Given the description of an element on the screen output the (x, y) to click on. 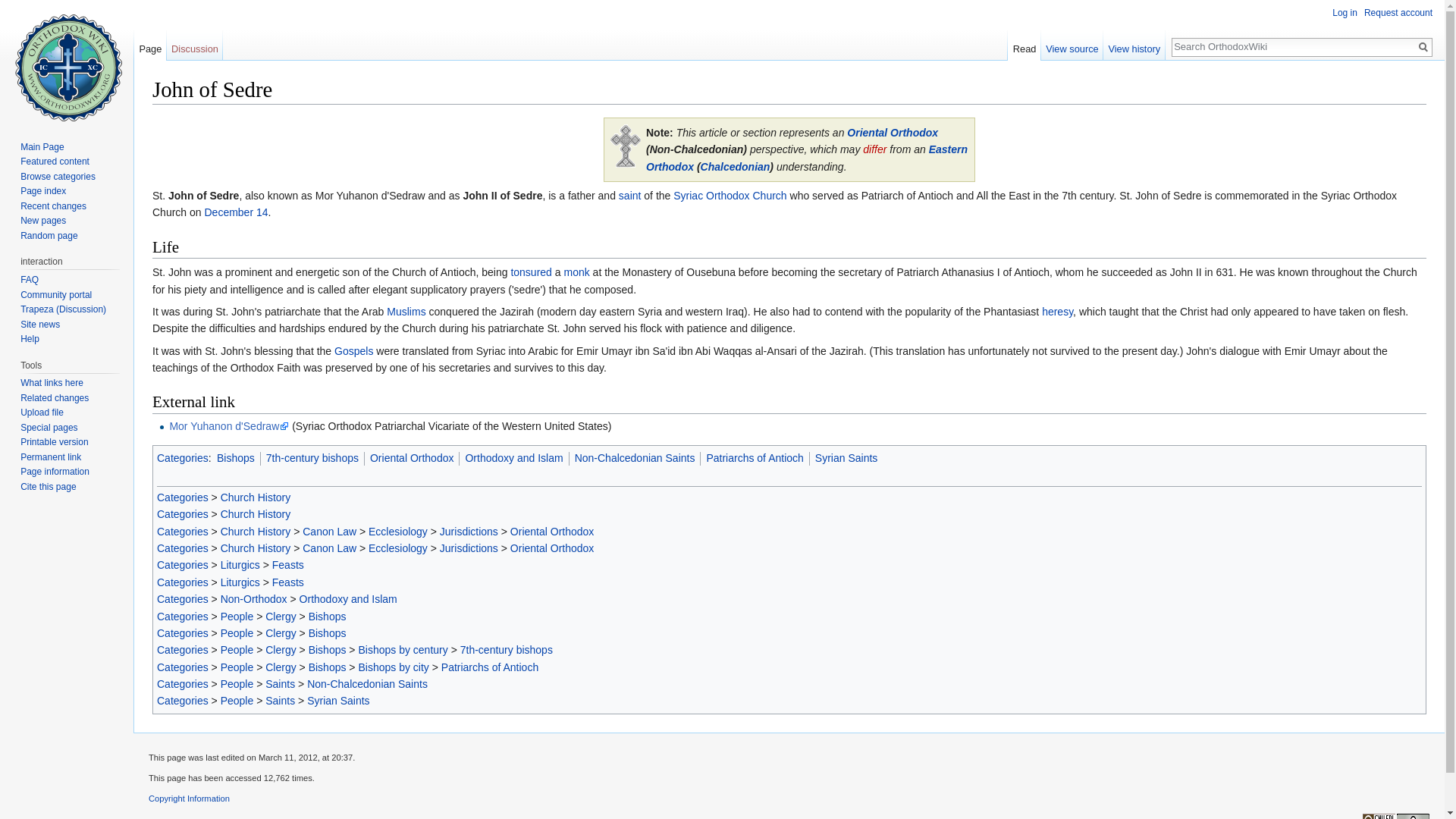
Special:Categories (182, 458)
Coptic Orthodox Cross (625, 144)
Go (1423, 46)
Search (1423, 46)
Mor Yuhanon d'Sedraw (228, 426)
Categories (182, 497)
Non-Chalcedonian Saints (635, 458)
Category:Orthodoxy and Islam (513, 458)
December 14 (235, 212)
Tonsure (531, 272)
